Given the description of an element on the screen output the (x, y) to click on. 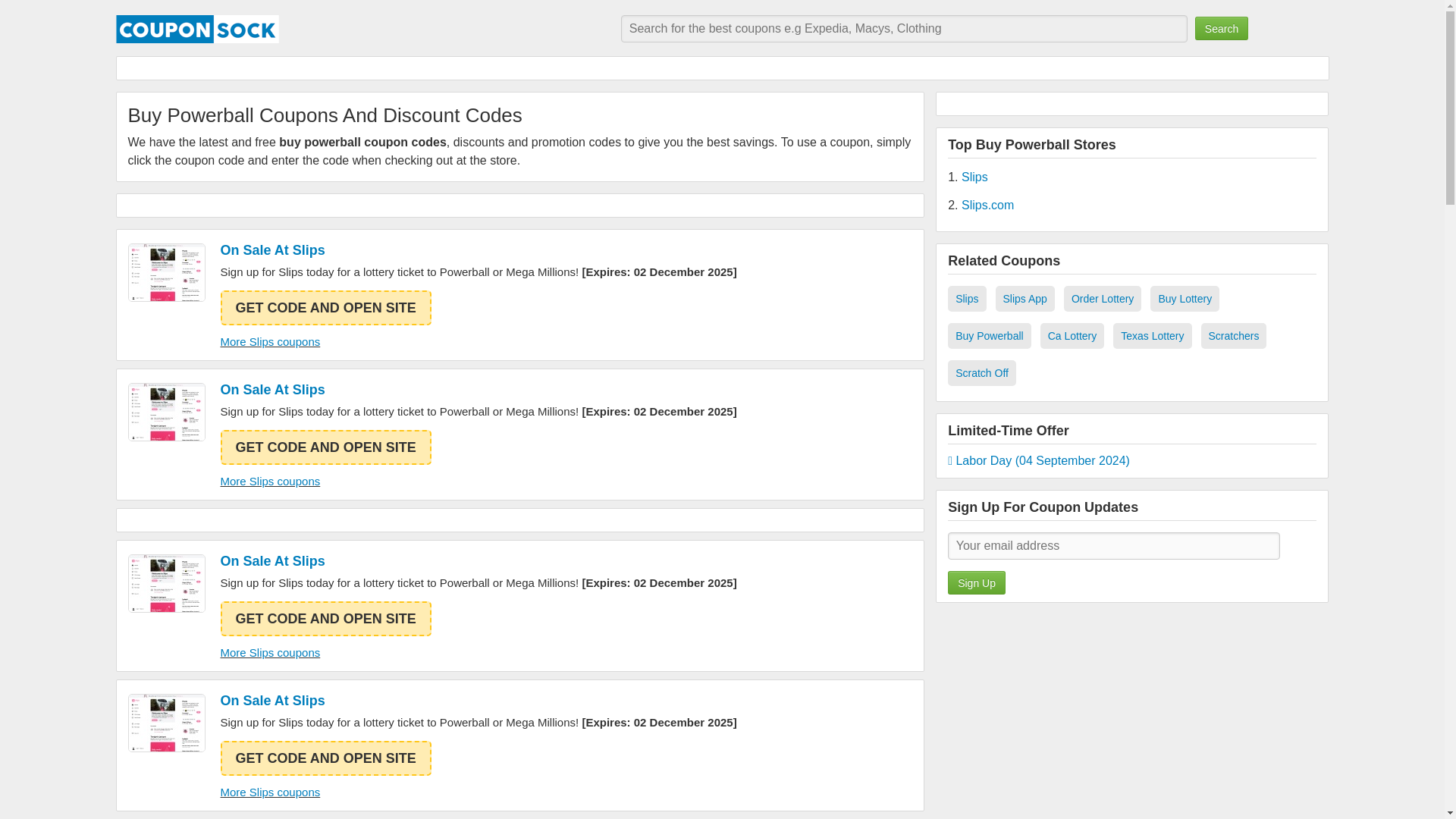
GET CODE AND OPEN SITE (324, 758)
GET CODE AND OPEN SITE (324, 307)
On Sale At Slips (477, 700)
GET CODE AND OPEN SITE (324, 618)
Slips Coupons (166, 412)
Search (1221, 28)
On Sale At Slips (477, 389)
Slips Coupons (166, 722)
More Slips coupons (269, 791)
Search (1221, 28)
